Given the description of an element on the screen output the (x, y) to click on. 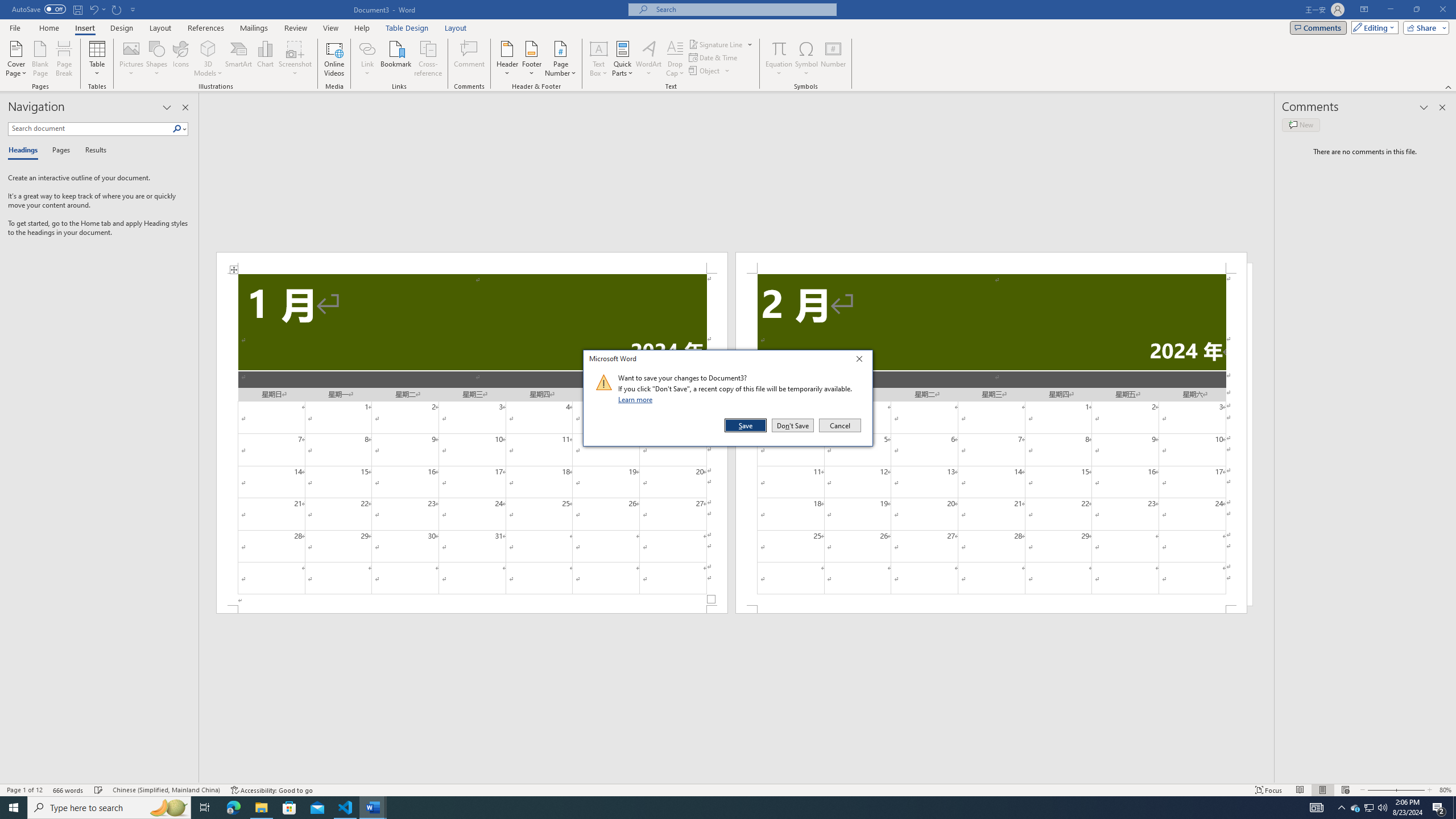
Number... (833, 58)
Zoom Out (1378, 790)
Type here to search (108, 807)
Signature Line (716, 44)
Date & Time... (714, 56)
Layout (455, 28)
Footer (531, 58)
Header (507, 58)
WordArt (648, 58)
Ribbon Display Options (1364, 9)
Insert (83, 28)
Share (1423, 27)
Show desktop (1454, 807)
